Given the description of an element on the screen output the (x, y) to click on. 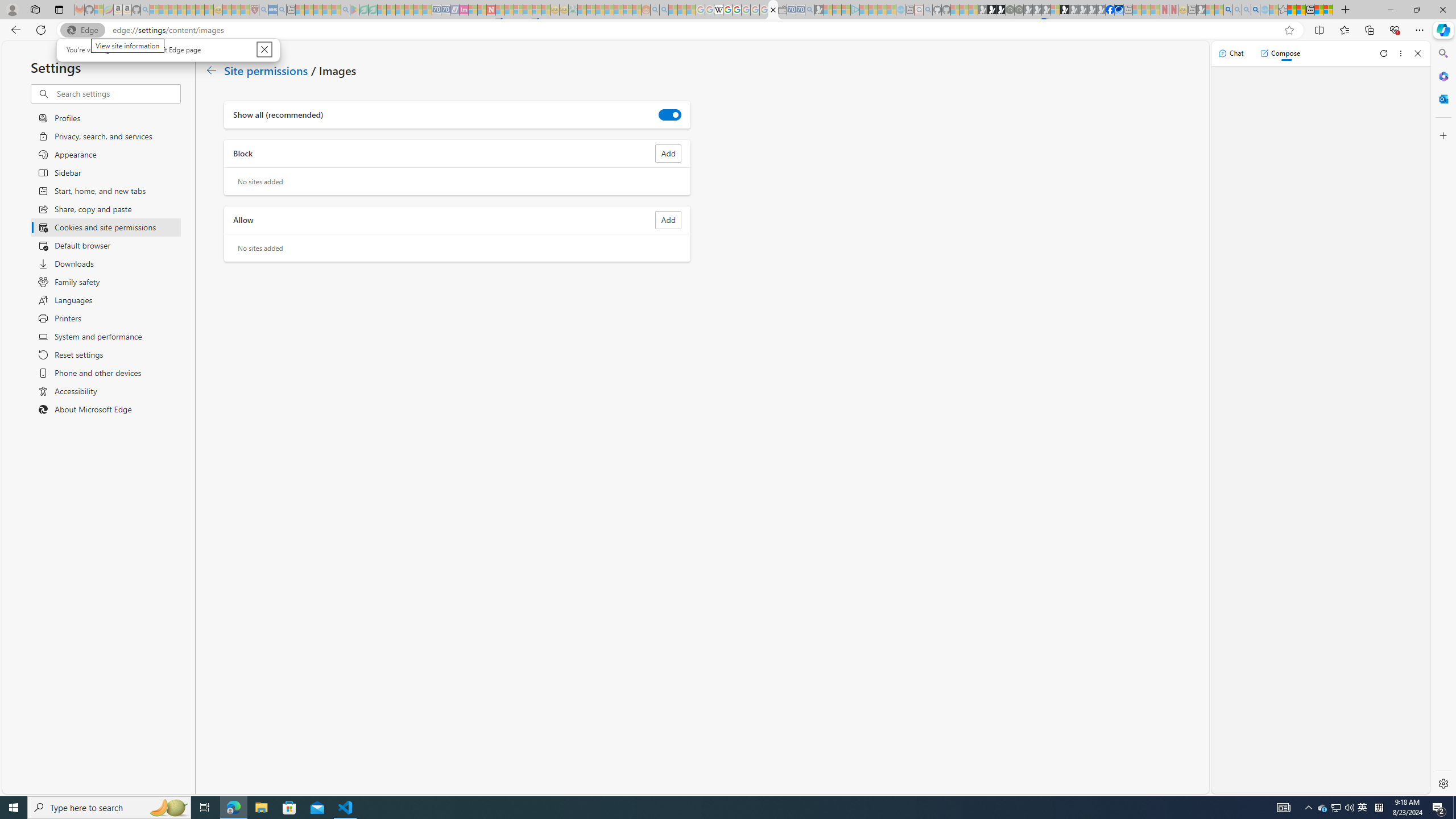
Target page - Wikipedia (718, 9)
